Given the description of an element on the screen output the (x, y) to click on. 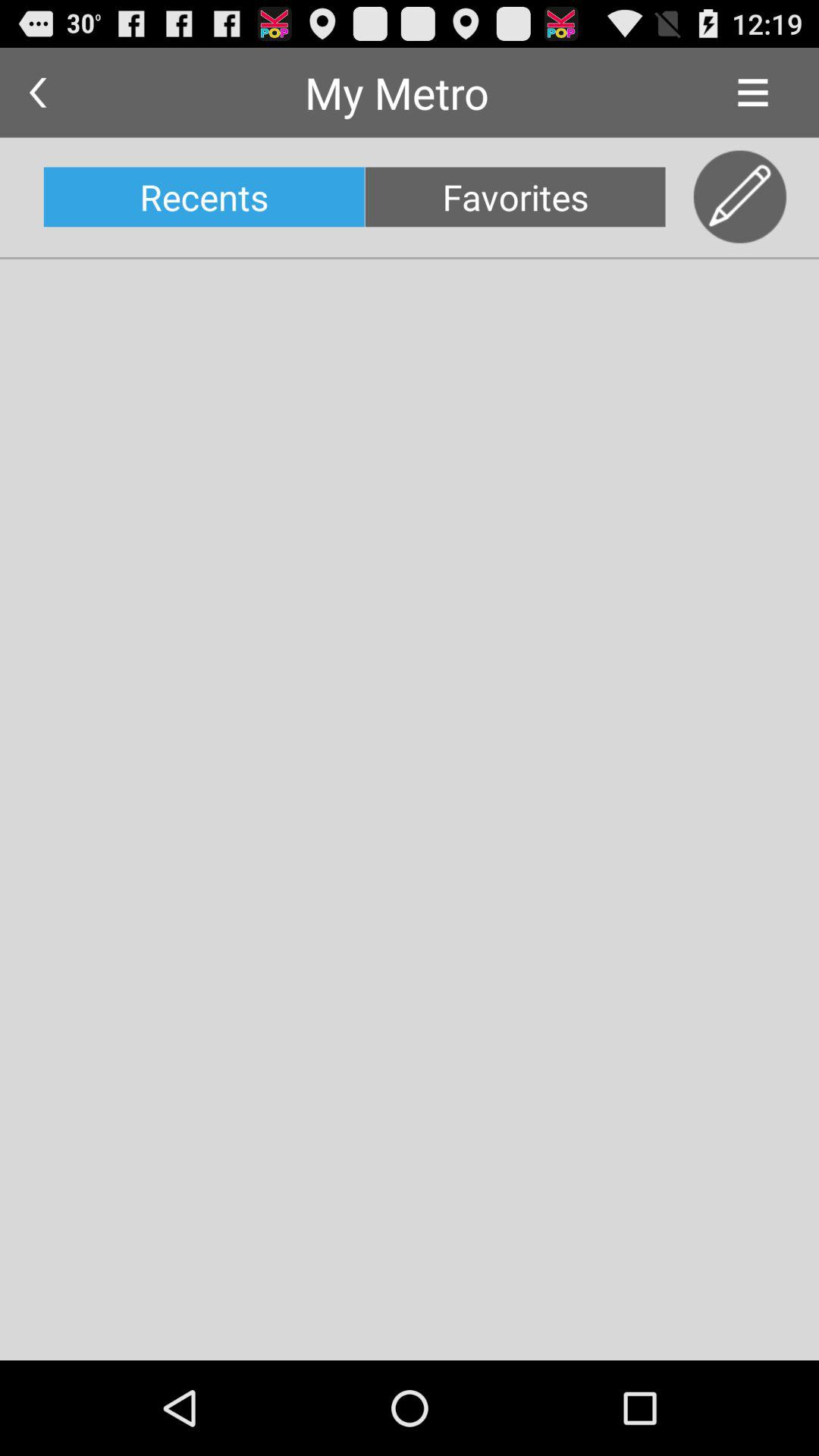
tap the app to the right of the favorites item (740, 197)
